Given the description of an element on the screen output the (x, y) to click on. 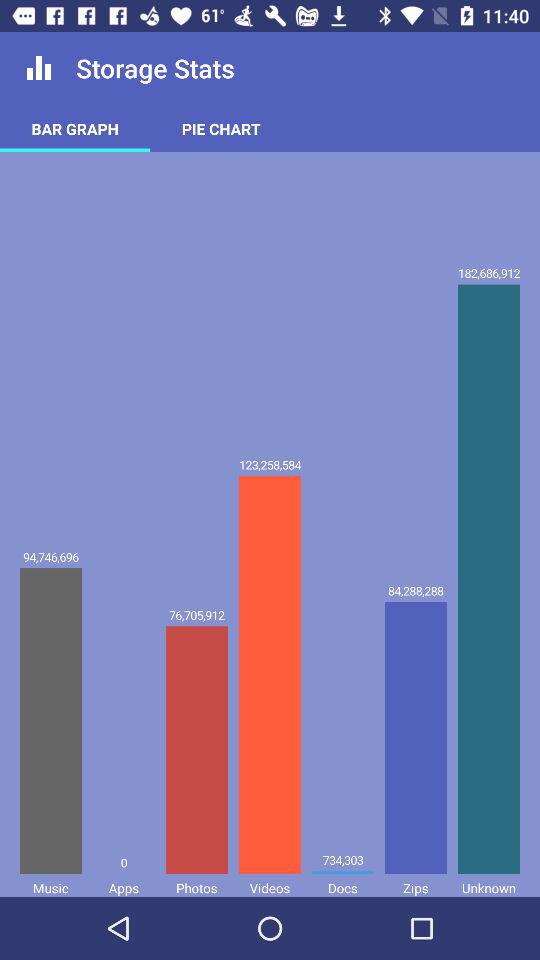
jump until the pie chart item (221, 128)
